Given the description of an element on the screen output the (x, y) to click on. 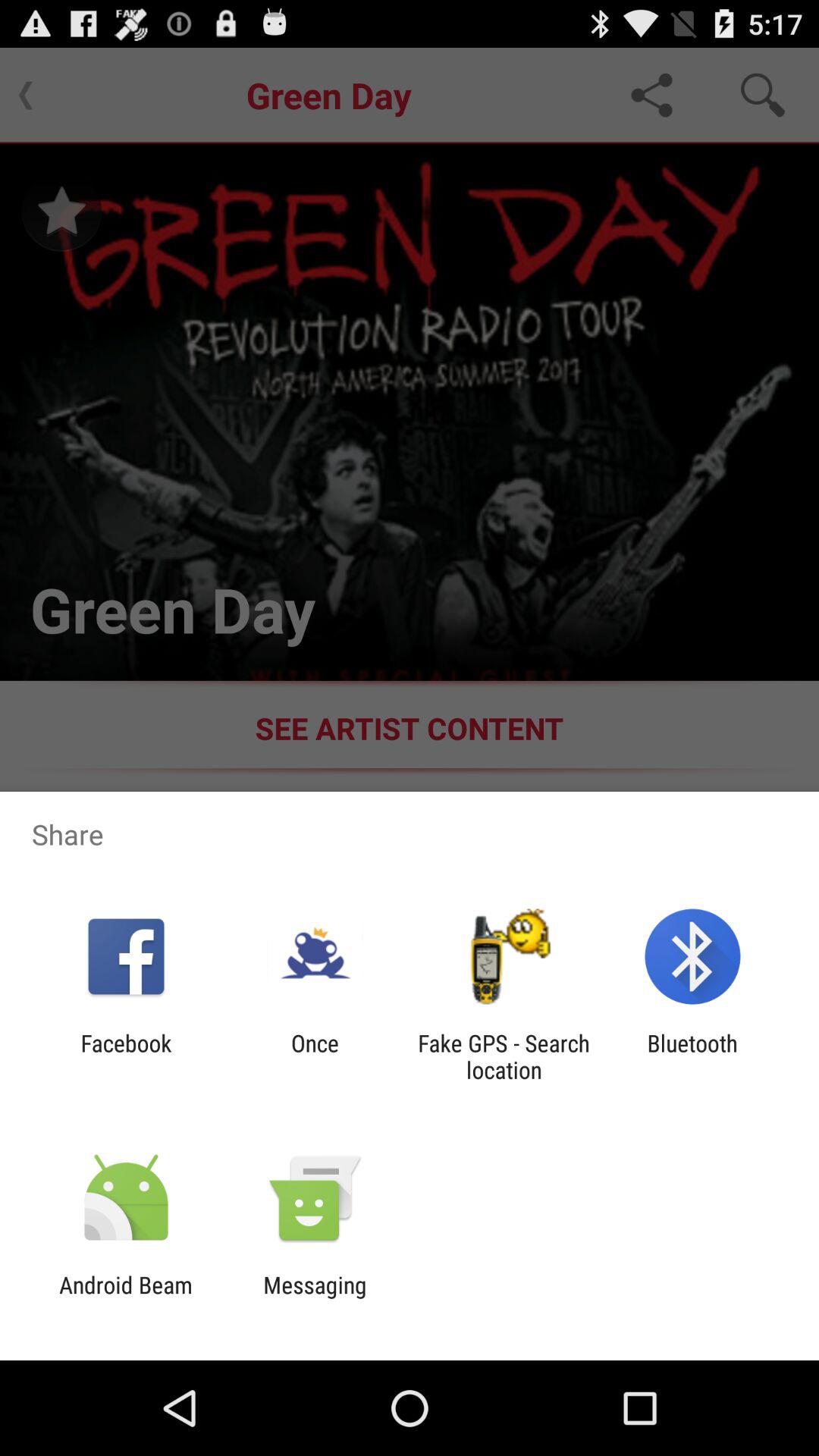
open the icon to the left of the fake gps search item (314, 1056)
